Given the description of an element on the screen output the (x, y) to click on. 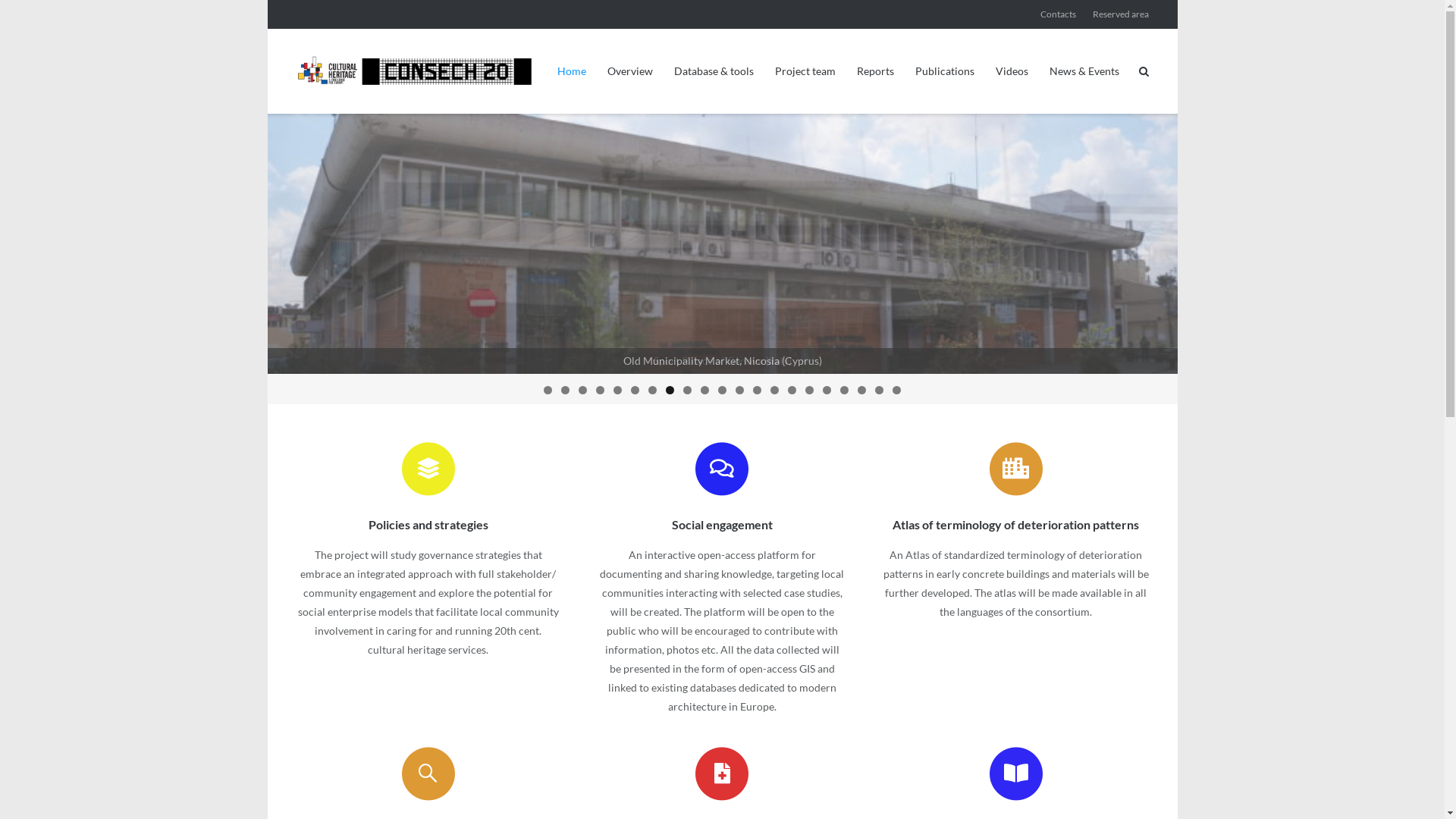
8 Element type: text (669, 389)
Videos Element type: text (1011, 70)
3 Element type: text (582, 389)
12 Element type: text (739, 389)
Reserved area Element type: text (1120, 14)
6 Element type: text (634, 389)
Overview Element type: text (629, 70)
7 Element type: text (652, 389)
11 Element type: text (722, 389)
20 Element type: text (879, 389)
Conservation proposals  Element type: hover (721, 773)
1 Element type: text (547, 389)
16 Element type: text (809, 389)
18 Element type: text (844, 389)
14 Element type: text (774, 389)
Reports Element type: text (875, 70)
4 Element type: text (600, 389)
2 Element type: text (565, 389)
Atlas of terminology of deterioration patterns  Element type: hover (1015, 468)
17 Element type: text (826, 389)
Project team Element type: text (805, 70)
Pavillion S, Sporting Palace Element type: hover (721, 243)
Home Element type: text (571, 70)
News & Events Element type: text (1084, 70)
21 Element type: text (896, 389)
Publications Element type: text (944, 70)
15 Element type: text (791, 389)
5 Element type: text (617, 389)
Contacts Element type: text (1058, 14)
Database & tools Element type: text (713, 70)
10 Element type: text (704, 389)
19 Element type: text (861, 389)
Monitoring Element type: hover (428, 773)
13 Element type: text (757, 389)
9 Element type: text (687, 389)
